Given the description of an element on the screen output the (x, y) to click on. 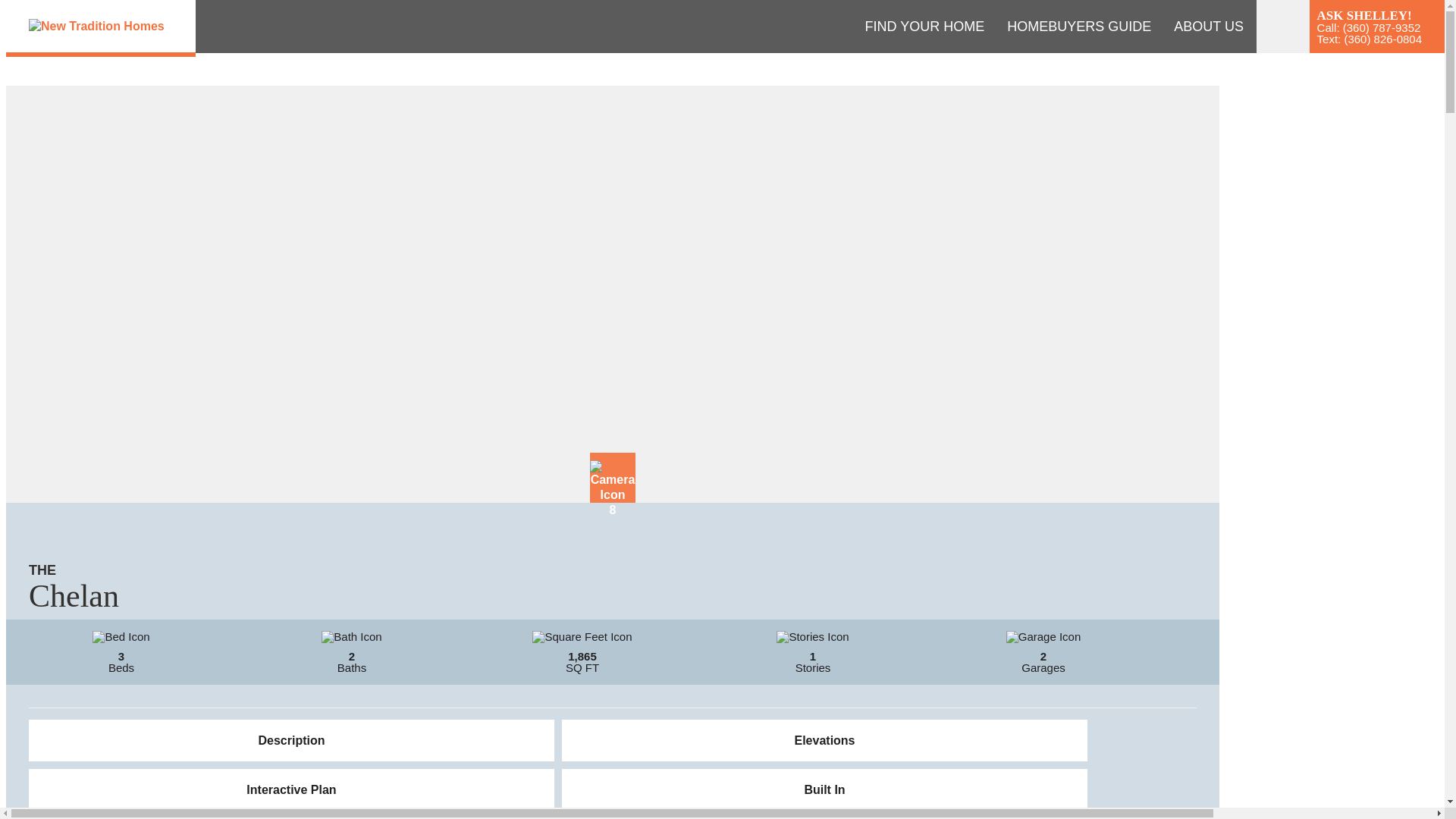
8 (611, 477)
GALLERY (1297, 26)
HOMEBUYERS GUIDE (1078, 26)
ABOUT US (1208, 26)
Description (291, 740)
